Given the description of an element on the screen output the (x, y) to click on. 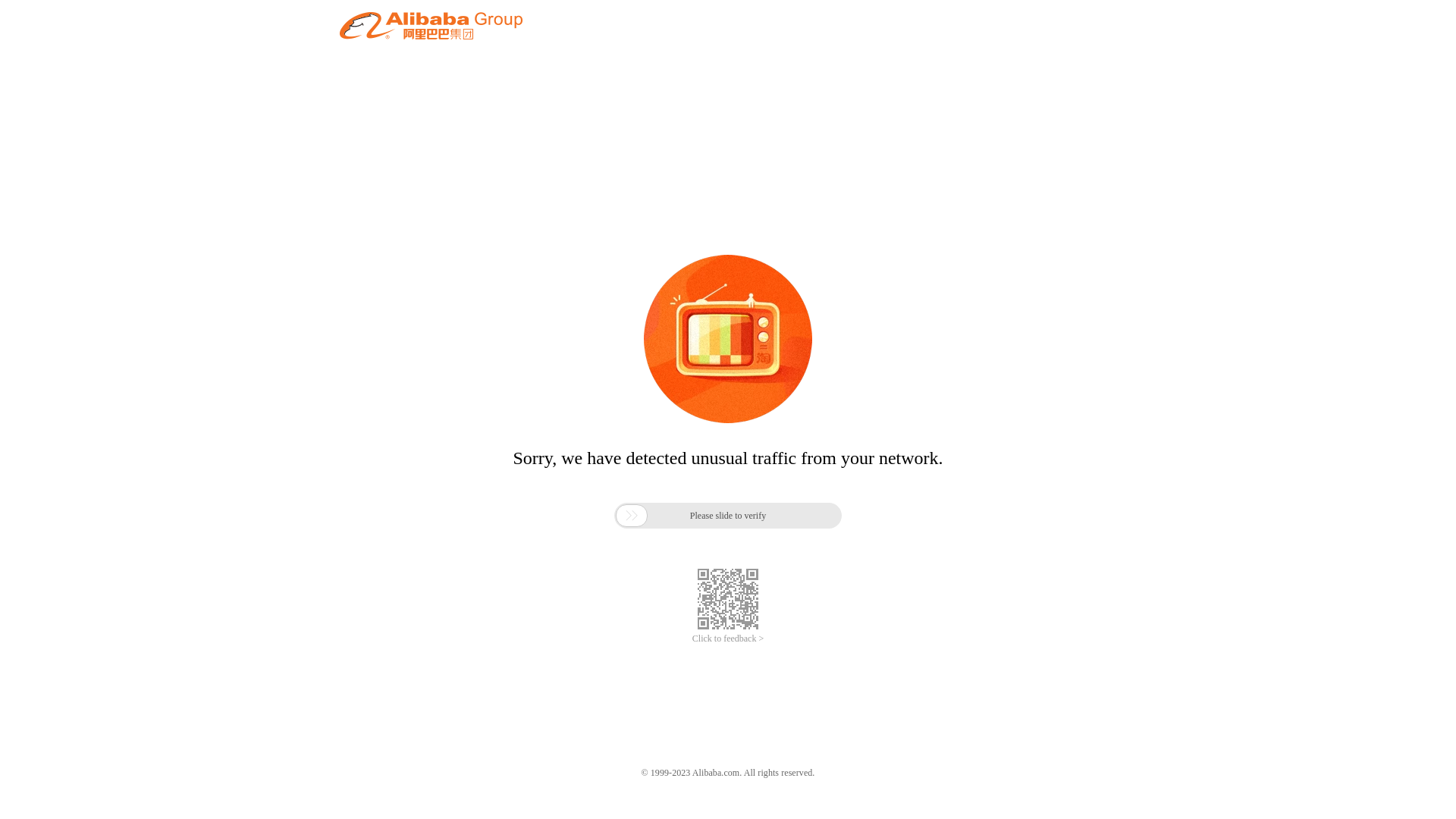
Click to feedback > Element type: text (727, 638)
